Given the description of an element on the screen output the (x, y) to click on. 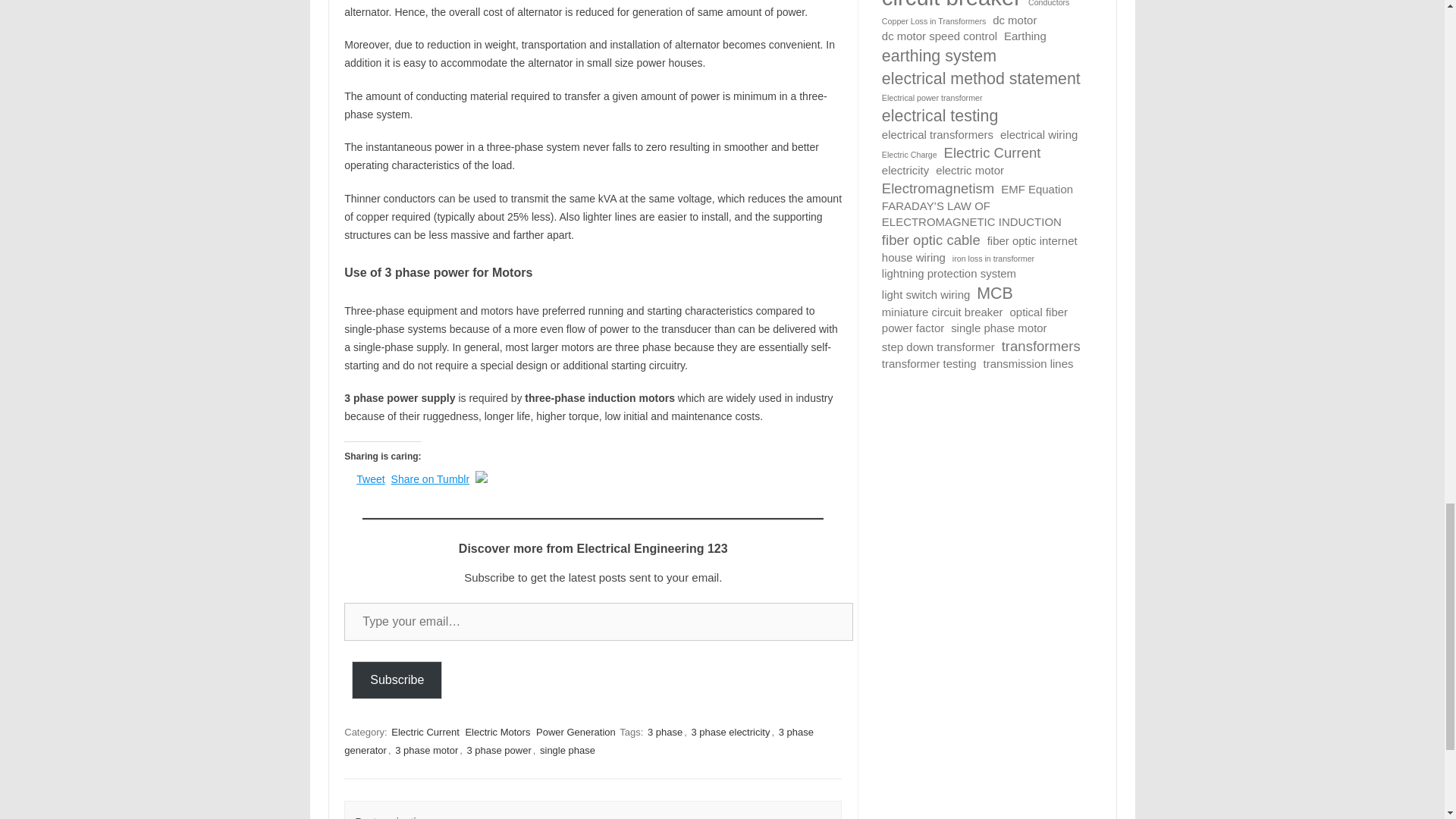
Electric Motors (497, 731)
Tweet (370, 477)
Please fill in this field. (598, 621)
3 phase (665, 731)
single phase (567, 749)
3 phase generator (578, 740)
3 phase motor (426, 749)
3 phase power (498, 749)
3 phase electricity (729, 731)
Power Generation (575, 731)
